Given the description of an element on the screen output the (x, y) to click on. 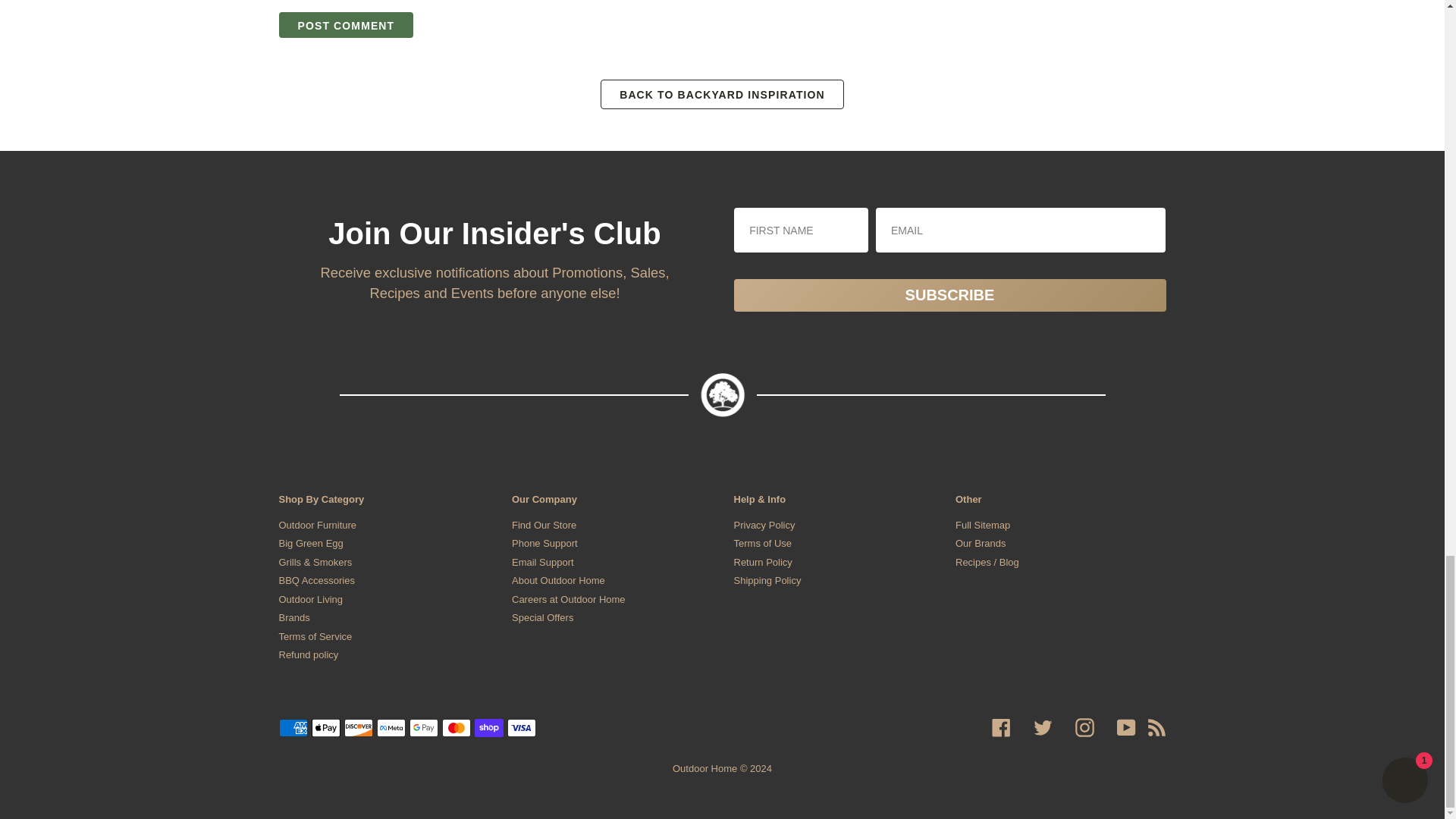
Post comment (346, 25)
Subscribe (949, 295)
